Given the description of an element on the screen output the (x, y) to click on. 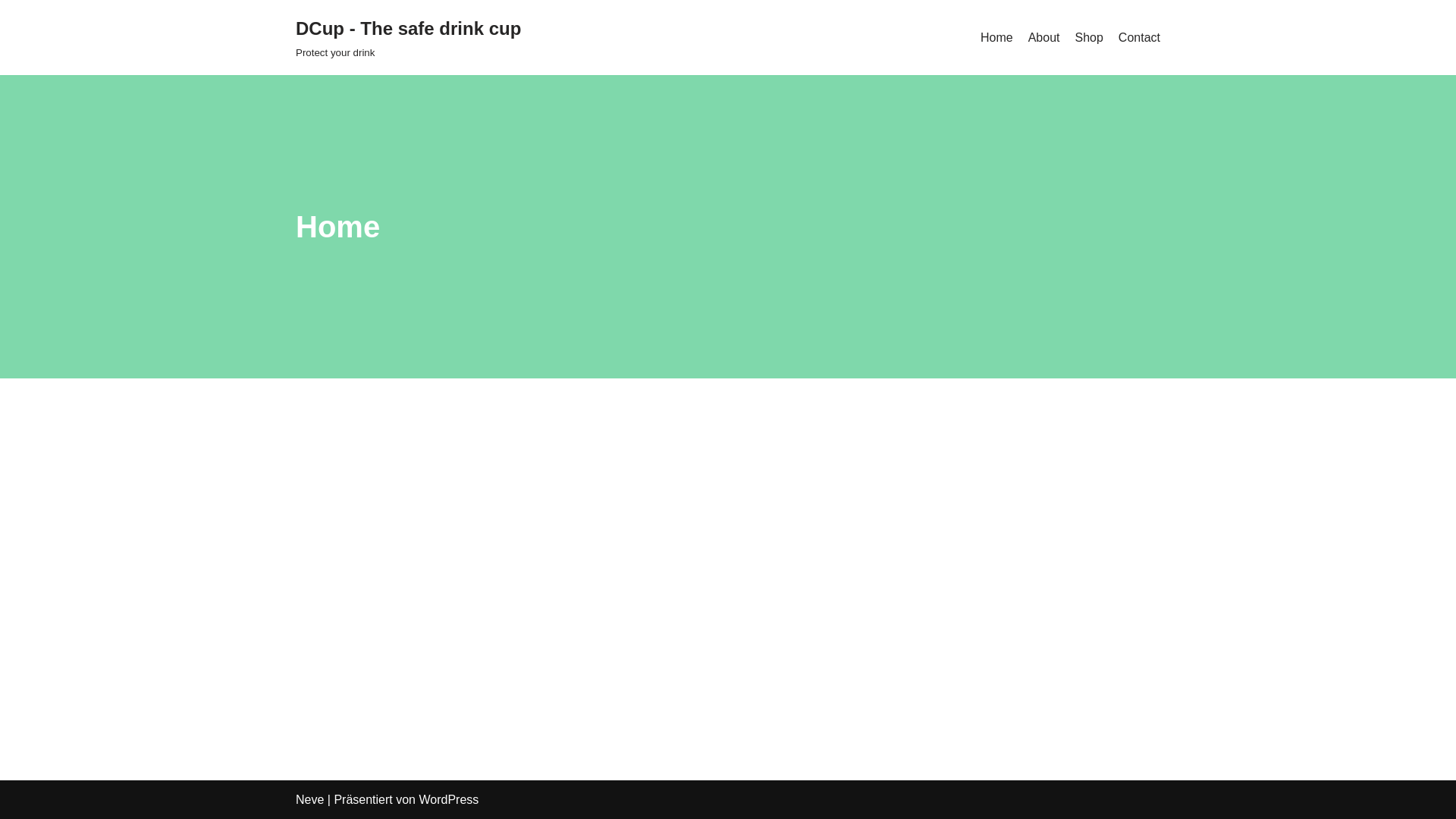
DCup - The safe drink cup
Protect your drink Element type: text (407, 37)
Neve Element type: text (309, 799)
WordPress Element type: text (448, 799)
Shop Element type: text (1088, 37)
Zum Inhalt springen Element type: text (11, 31)
Home Element type: text (996, 37)
Contact Element type: text (1139, 37)
About Element type: text (1044, 37)
